Given the description of an element on the screen output the (x, y) to click on. 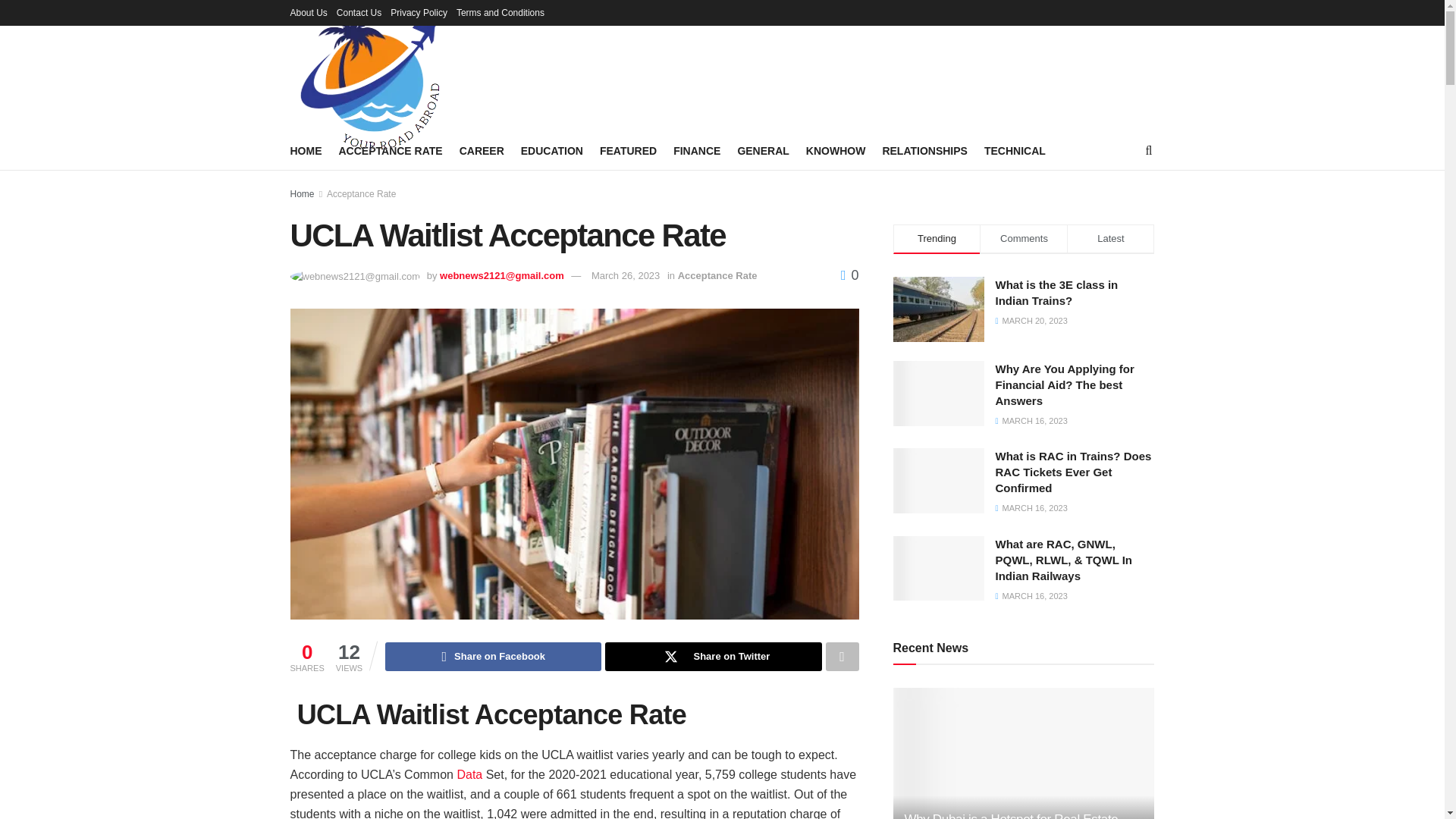
Acceptance Rate (361, 194)
FEATURED (627, 150)
Contact Us (358, 12)
FINANCE (696, 150)
KNOWHOW (836, 150)
Home (301, 194)
0 (850, 274)
Terms and Conditions (500, 12)
CAREER (481, 150)
HOME (305, 150)
RELATIONSHIPS (925, 150)
Privacy Policy (418, 12)
About Us (307, 12)
Acceptance Rate (717, 275)
GENERAL (762, 150)
